Given the description of an element on the screen output the (x, y) to click on. 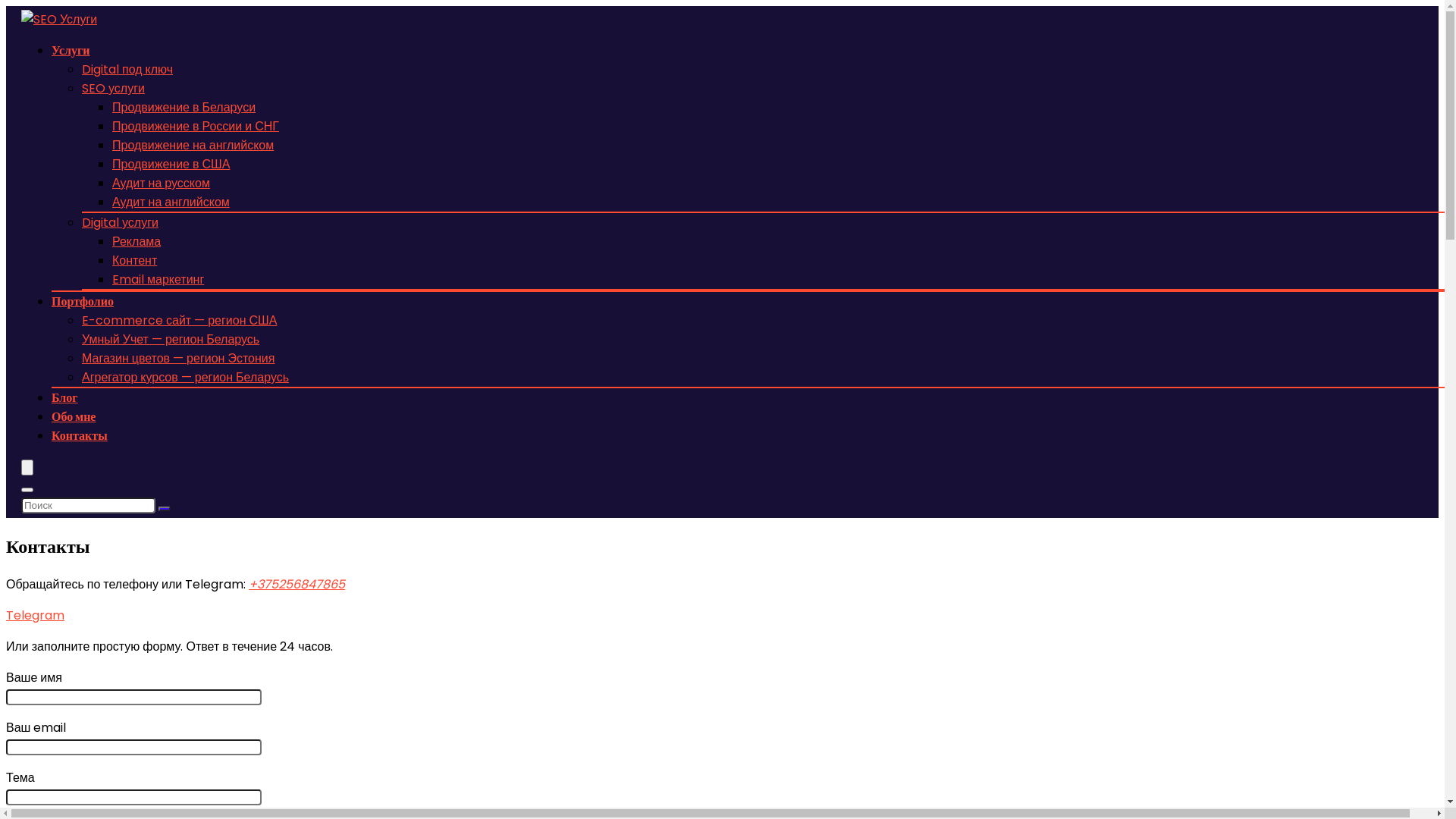
+375256847865 Element type: text (296, 584)
Telegram Element type: text (35, 615)
